Given the description of an element on the screen output the (x, y) to click on. 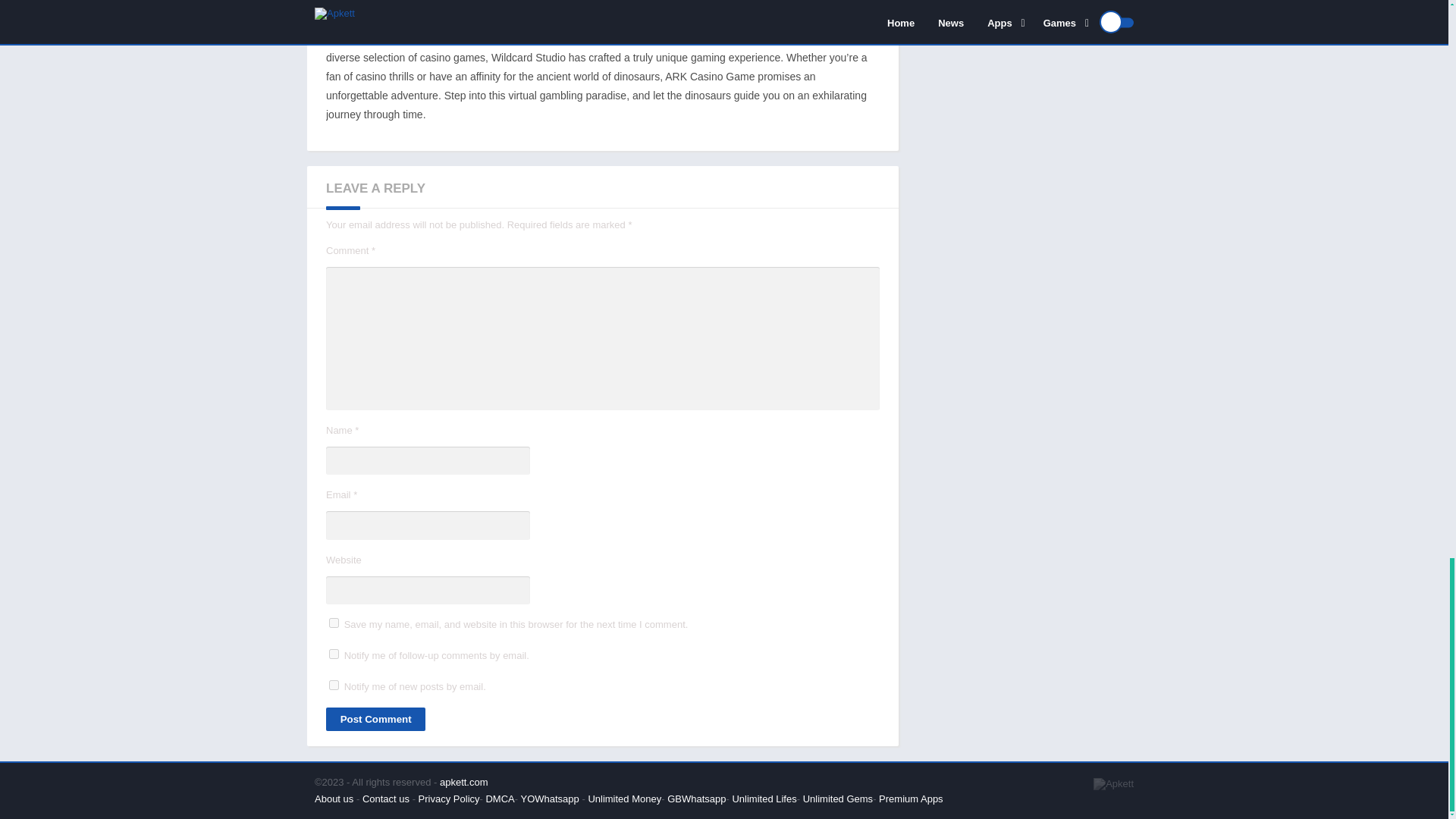
subscribe (334, 685)
yes (334, 623)
subscribe (334, 654)
Post Comment (375, 719)
